Given the description of an element on the screen output the (x, y) to click on. 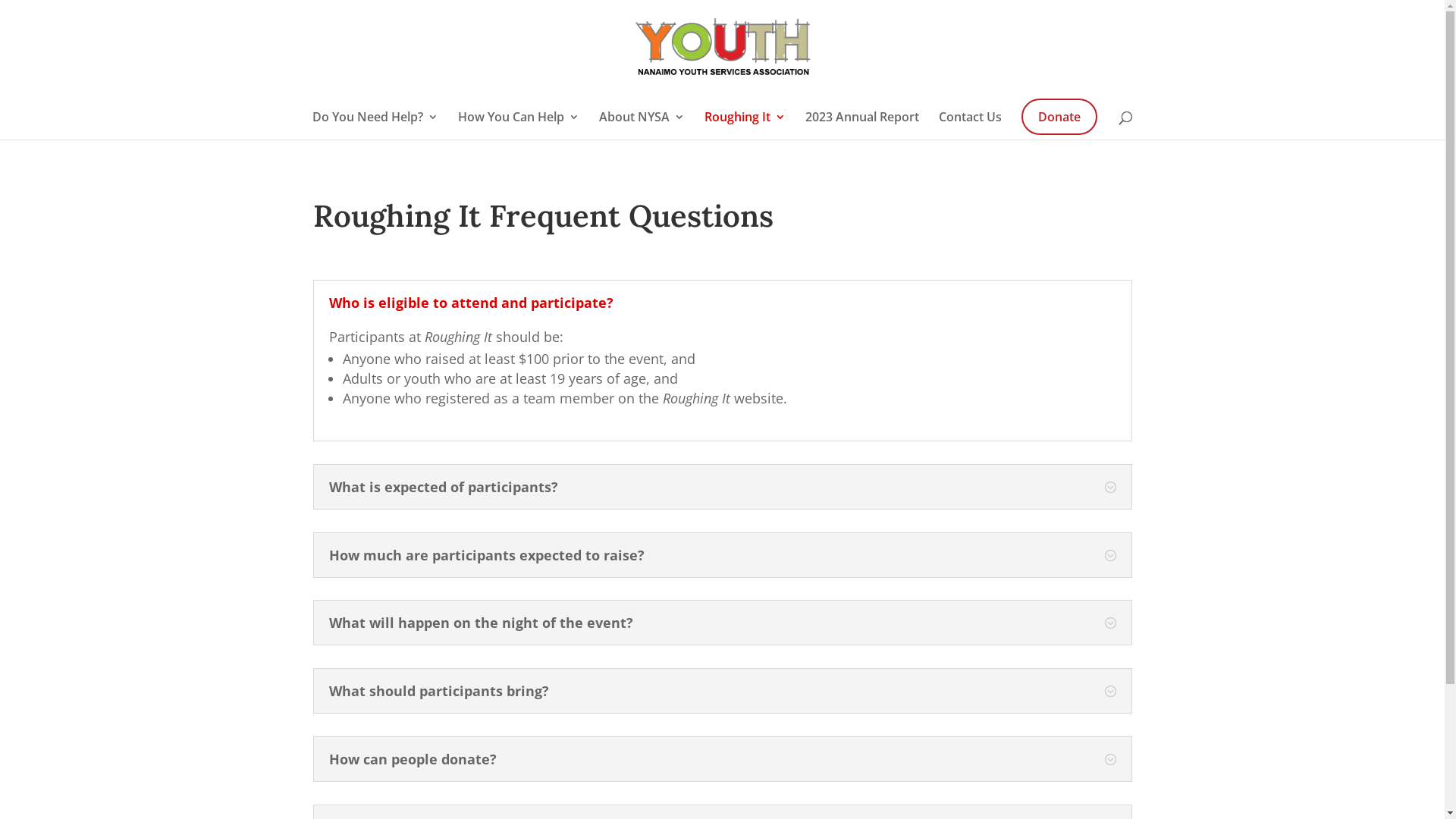
Do You Need Help? Element type: text (375, 125)
Contact Us Element type: text (969, 125)
Roughing It Element type: text (744, 125)
Donate Element type: text (1058, 116)
How You Can Help Element type: text (518, 125)
About NYSA Element type: text (641, 125)
2023 Annual Report Element type: text (862, 125)
